Given the description of an element on the screen output the (x, y) to click on. 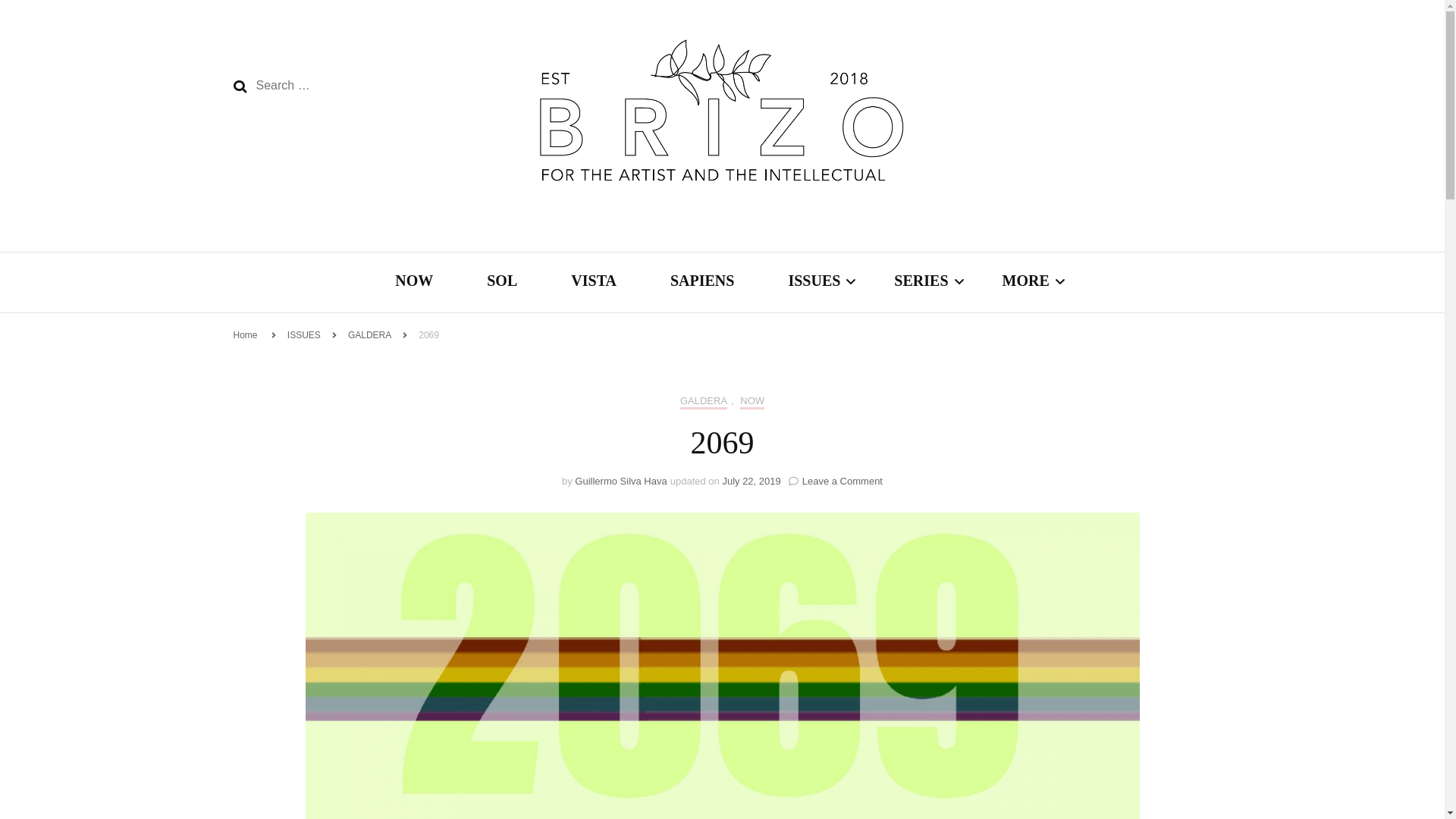
Home (244, 335)
GALDERA (702, 401)
VISTA (592, 282)
MORE (1026, 282)
SERIES (920, 282)
Search (239, 86)
ISSUES (303, 335)
GALDERA (369, 335)
ISSUES (813, 282)
SAPIENS (701, 282)
